Given the description of an element on the screen output the (x, y) to click on. 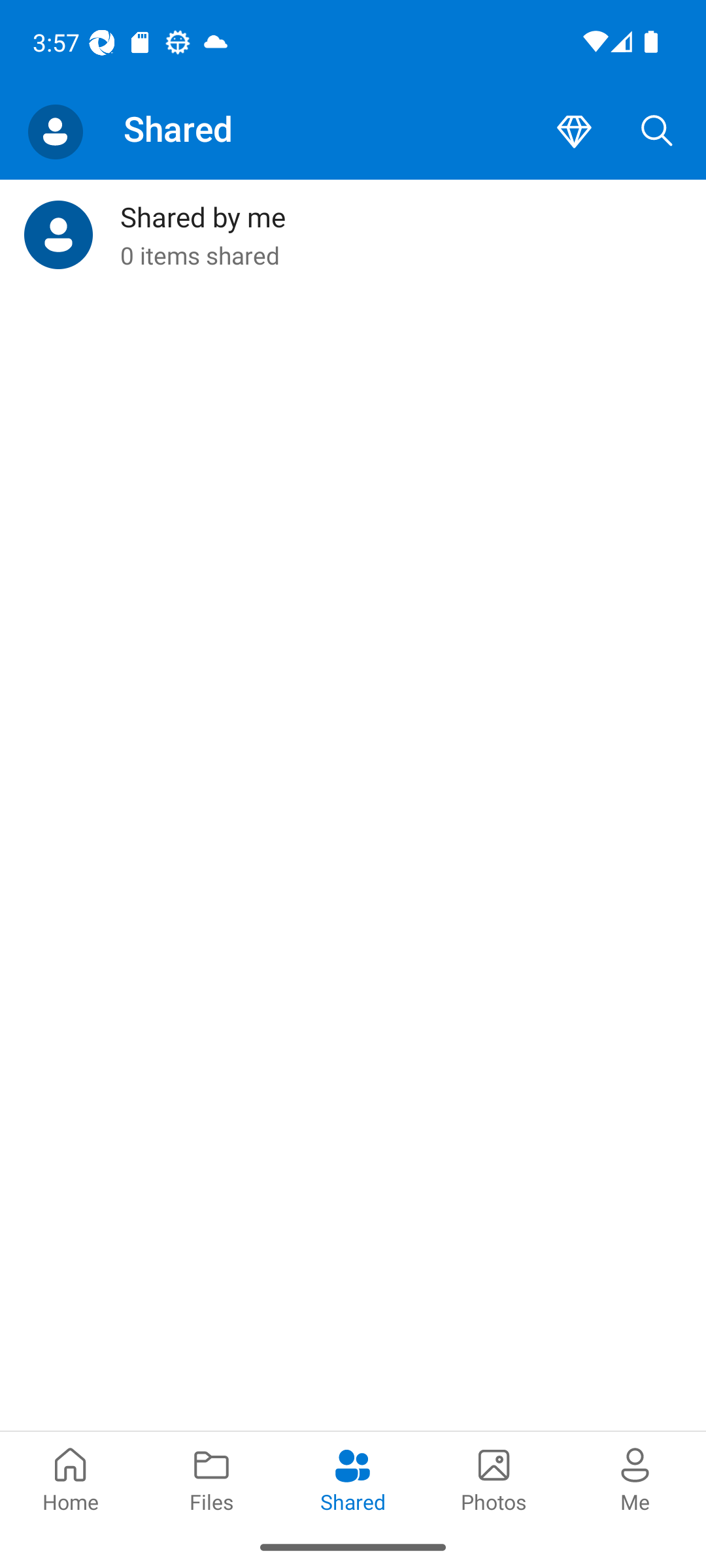
Account switcher (55, 131)
Premium button (574, 131)
Search button (656, 131)
0 Shared by me 0 items shared (353, 235)
Home pivot Home (70, 1478)
Files pivot Files (211, 1478)
Photos pivot Photos (493, 1478)
Me pivot Me (635, 1478)
